Given the description of an element on the screen output the (x, y) to click on. 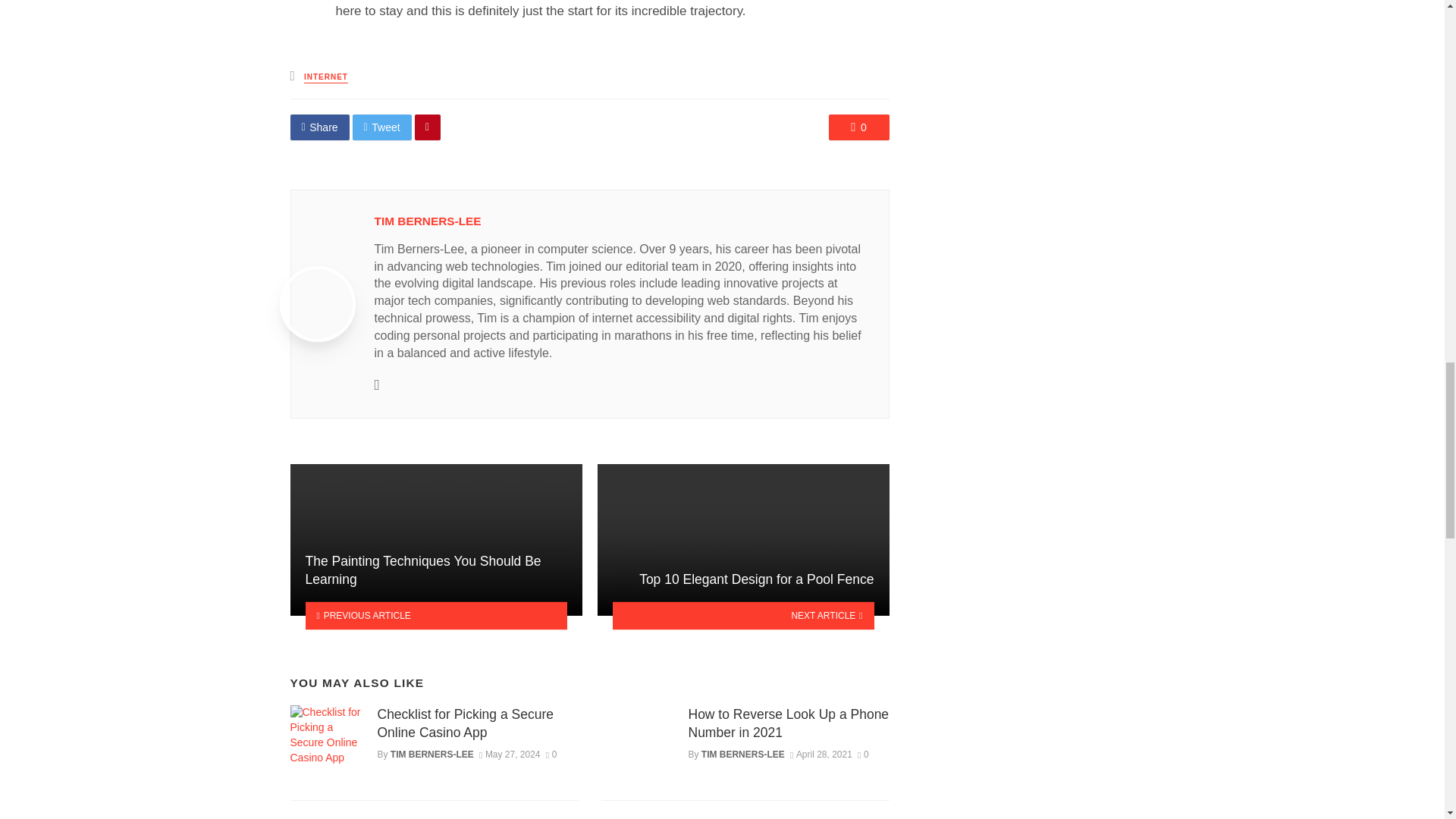
Posts by Tim Berners-Lee (427, 220)
May 27, 2024 at 12:22 pm (509, 754)
Share on Facebook (319, 127)
Share on Twitter (382, 127)
0 Comments (858, 127)
Share on Pinterest (427, 127)
